Given the description of an element on the screen output the (x, y) to click on. 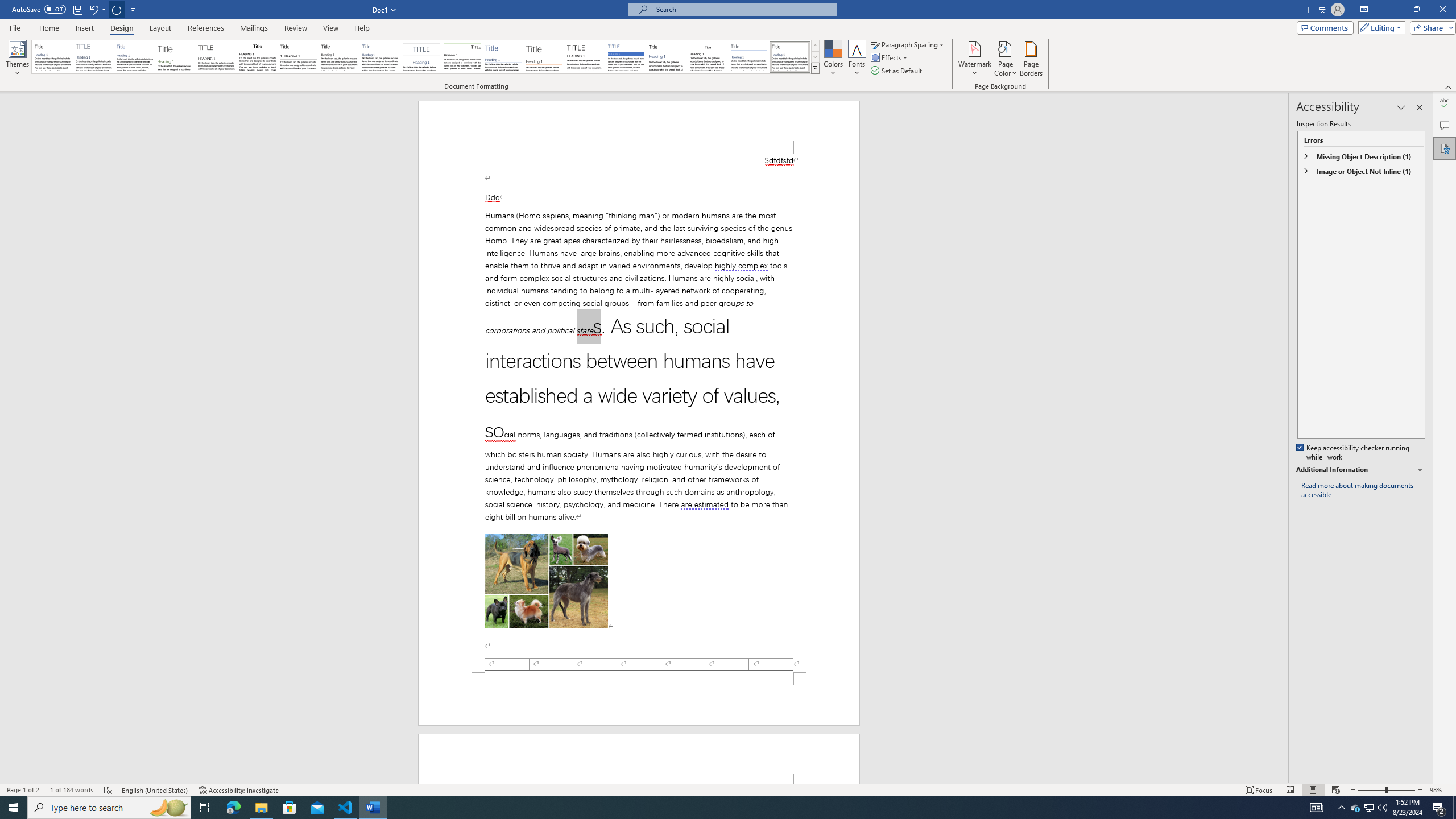
Minimalist (584, 56)
Effects (890, 56)
Document (52, 56)
Page Borders... (1031, 58)
Word 2010 (749, 56)
Black & White (Word 2013) (338, 56)
